Given the description of an element on the screen output the (x, y) to click on. 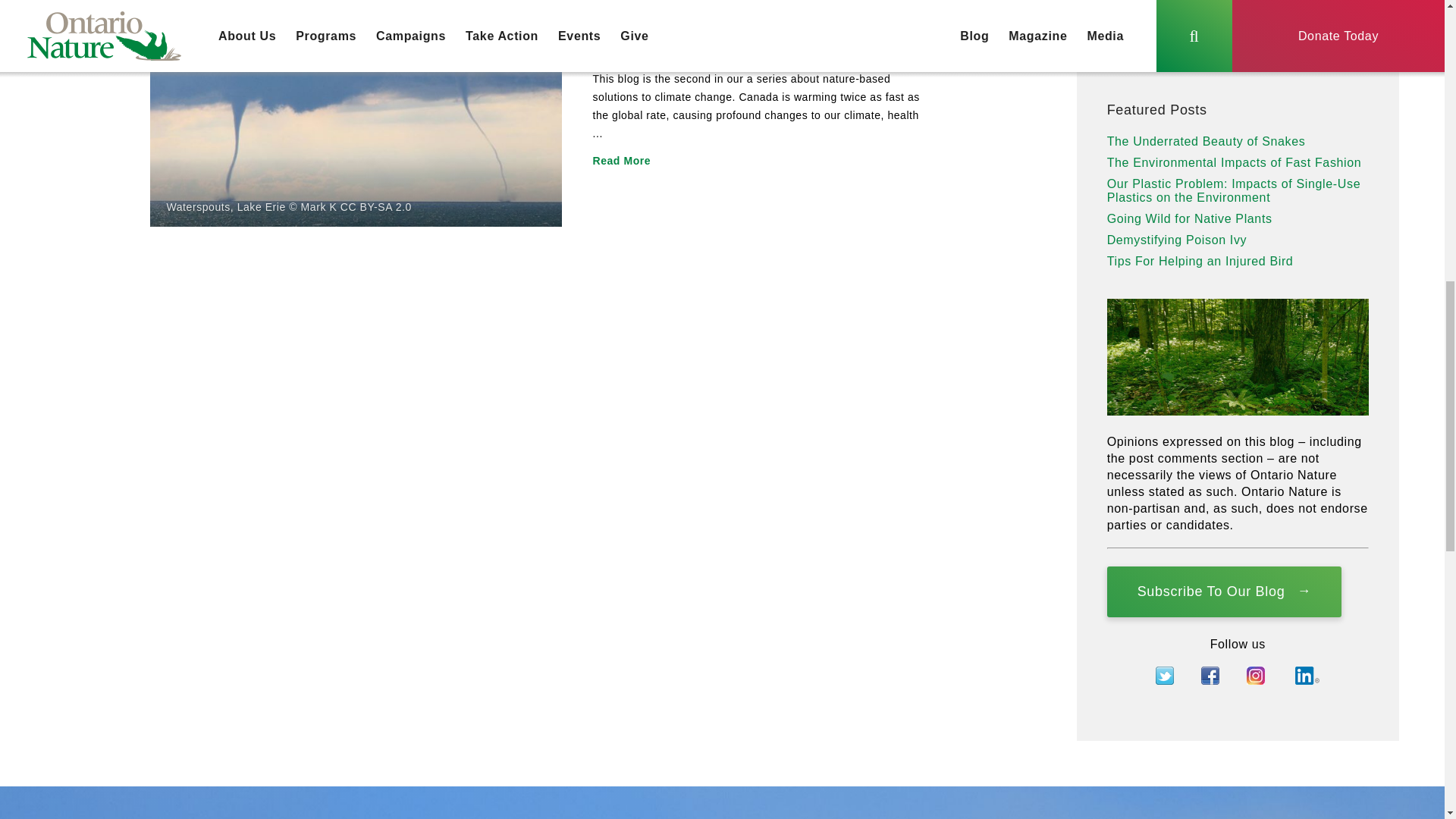
View blog posts (1349, 54)
Signup to receive blog update notifications (1224, 591)
Select a category (1218, 54)
